Given the description of an element on the screen output the (x, y) to click on. 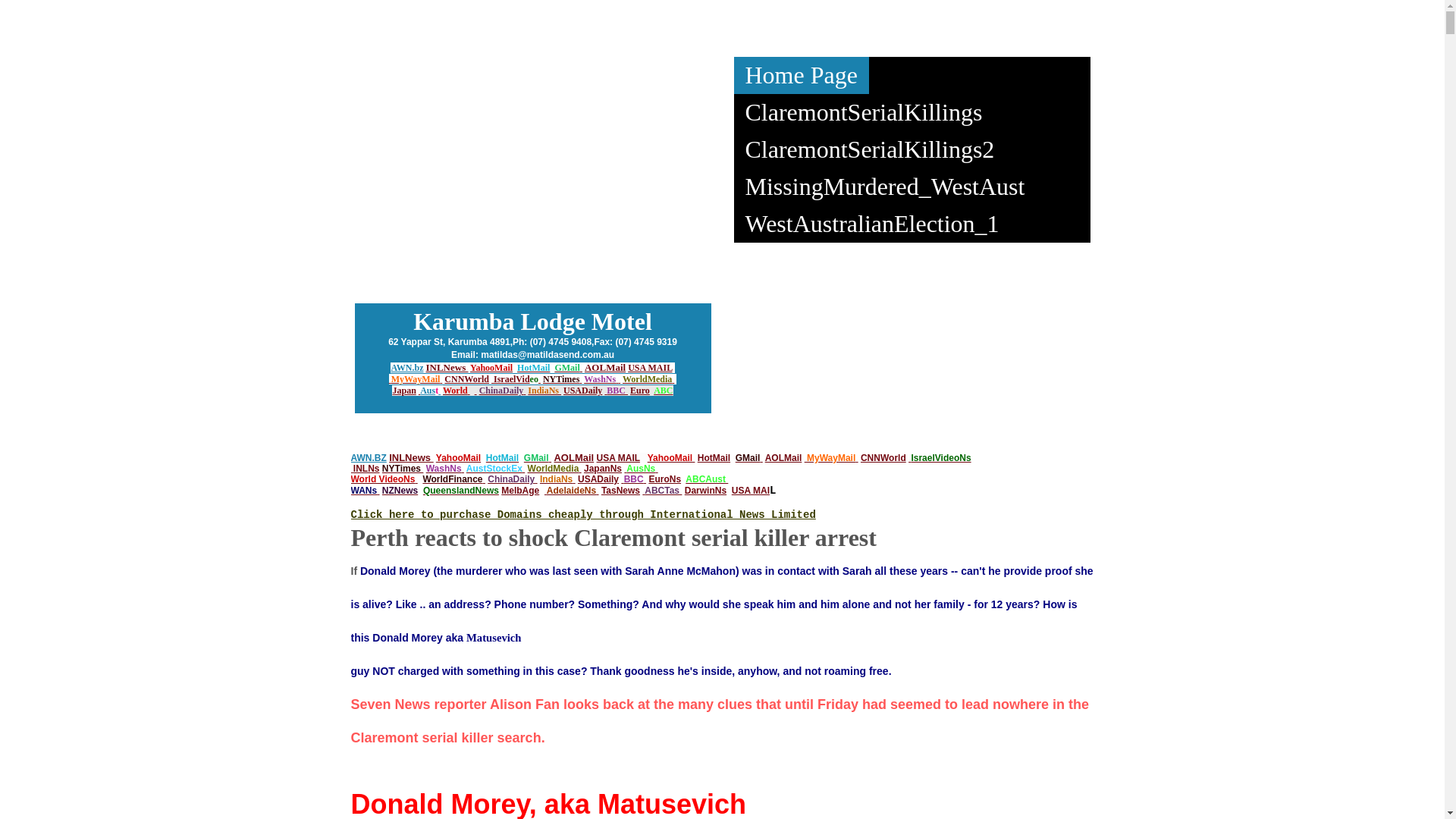
AWN.bz Element type: text (406, 367)
  Element type: text (581, 367)
  Element type: text (439, 390)
ChinaDaily Element type: text (510, 478)
AOLMail Element type: text (573, 457)
  Element type: text (805, 457)
  Element type: text (573, 478)
  Element type: text (726, 478)
MissingMurdered_WestAust Element type: text (885, 186)
  Element type: text (760, 457)
HotMail Element type: text (502, 457)
  Element type: text (579, 468)
BBC Element type: text (615, 390)
USA MAI Element type: text (750, 490)
AWN.BZ Element type: text (367, 457)
  Element type: text (377, 490)
USADaily Element type: text (597, 478)
Euro Element type: text (639, 390)
WANs Element type: text (363, 490)
CNNWorld Element type: text (466, 378)
GMail Element type: text (566, 367)
IsraelVid Element type: text (511, 378)
  Element type: text (524, 390)
  Element type: text (909, 457)
  Element type: text (545, 490)
WorldMedia Element type: text (553, 468)
USA MAIL Element type: text (618, 457)
HotMail Element type: text (533, 367)
USADaily Element type: text (582, 390)
  Element type: text (622, 478)
YahooMail Element type: text (458, 457)
  Element type: text (415, 478)
  Element type: text (419, 390)
  Element type: text (535, 478)
WorldMedia Element type: text (646, 378)
  Element type: text (616, 378)
  Element type: text (605, 390)
  Element type: text (856, 457)
USA MAIL Element type: text (649, 367)
ClaremontSerialKillings2 Element type: text (870, 149)
JapanNs Element type: text (602, 468)
AusNs Element type: text (640, 468)
IndiaNs Element type: text (542, 390)
  Element type: text (597, 490)
  Element type: text (523, 468)
  Element type: text (643, 490)
AOLMail Element type: text (783, 457)
AOLMail Element type: text (604, 367)
YahooMail Element type: text (491, 367)
  Element type: text (462, 468)
  Element type: text (421, 468)
GMail Element type: text (747, 457)
  Element type: text (559, 390)
EuroNs Element type: text (664, 478)
  Element type: text (680, 490)
YahooMail Element type: text (669, 457)
ChinaDaily Element type: text (501, 390)
  Element type: text (619, 378)
  Element type: text (390, 378)
WashNs Element type: text (443, 468)
  Element type: text (440, 378)
NZNews Element type: text (399, 490)
  Element type: text (672, 378)
World Element type: text (454, 390)
WashNs Element type: text (599, 378)
BBC Element type: text (633, 478)
ABC Element type: text (662, 390)
AustStockEx Element type: text (494, 468)
  Element type: text (644, 478)
ABCTas Element type: text (661, 490)
  Element type: text (625, 468)
  Element type: text (492, 378)
IndiaNs Element type: text (555, 478)
NYTimes Element type: text (560, 378)
  Element type: text (351, 468)
  Element type: text (580, 378)
AdelaideNs Element type: text (571, 490)
  Element type: text (656, 468)
  Element type: text (484, 478)
WestAustralianElection_1 Element type: text (872, 223)
  Element type: text (475, 390)
INLNs Element type: text (366, 468)
INLNews  Element type: text (411, 457)
ClaremontSerialKillings Element type: text (864, 112)
NYTimes Element type: text (401, 468)
ABCAust Element type: text (705, 478)
QueenslandNews Element type: text (460, 490)
MyWayMail Element type: text (830, 457)
WorldFinance Element type: text (452, 478)
HotMail Element type: text (713, 457)
IsraelVideoNs Element type: text (940, 457)
  Element type: text (550, 457)
GMail Element type: text (536, 457)
  Element type: text (468, 390)
MyWayMail Element type: text (415, 378)
MelbAge Element type: text (520, 490)
Home Page Element type: text (801, 75)
DarwinNs Element type: text (705, 490)
Japan Element type: text (403, 390)
Aus Element type: text (427, 390)
  Element type: text (626, 390)
  Element type: text (539, 378)
CNNWorld Element type: text (883, 457)
World VideoNs Element type: text (382, 478)
  Element type: text (693, 457)
INLNews  Element type: text (447, 367)
TasNews Element type: text (620, 490)
